Given the description of an element on the screen output the (x, y) to click on. 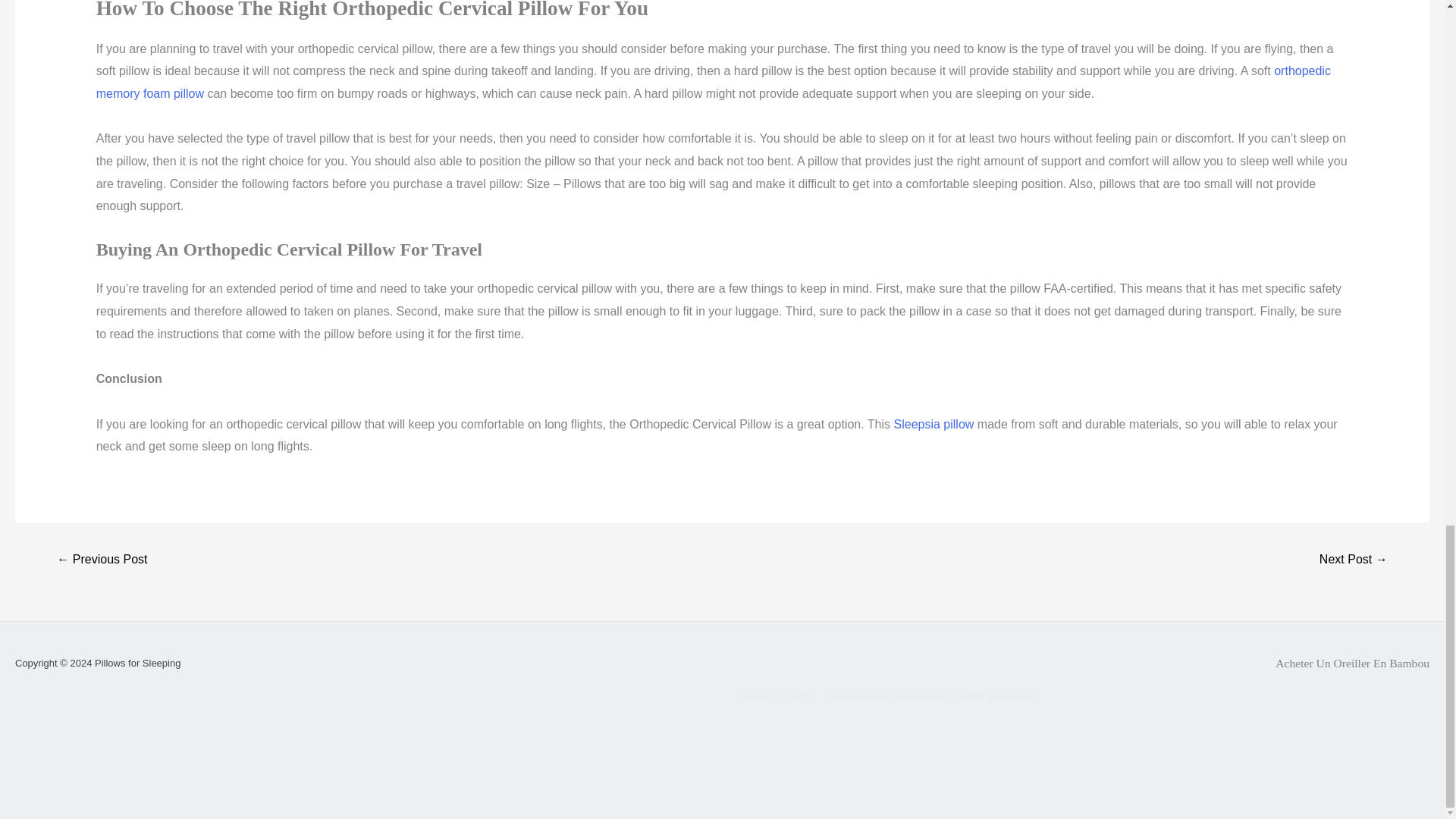
orthopedic memory foam pillow (713, 81)
oreiller pour dormir (995, 696)
DMCA.com Protection Status (1315, 728)
Sleepsia pillow (933, 423)
Oreiller en bambou (774, 696)
